Given the description of an element on the screen output the (x, y) to click on. 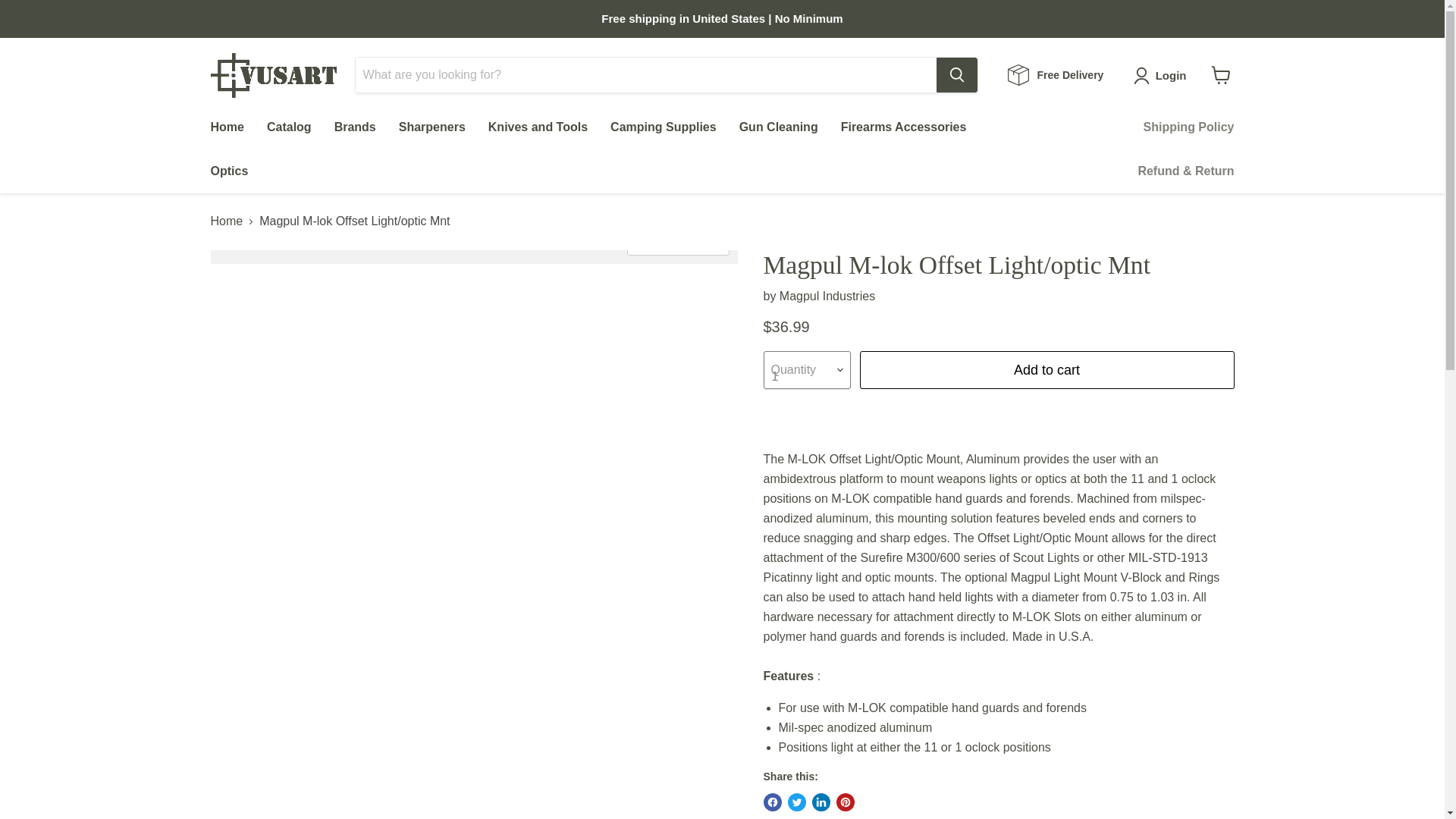
Gun Cleaning (778, 127)
Sharpeners (432, 127)
Shipping Policy (1187, 127)
Optics (228, 171)
Click to expand (678, 243)
Home (226, 127)
Brands (355, 127)
View cart (1221, 74)
Firearms Accessories (903, 127)
Home (227, 221)
Knives and Tools (537, 127)
Catalog (289, 127)
Camping Supplies (663, 127)
Magpul Industries (826, 295)
Login (1171, 75)
